Given the description of an element on the screen output the (x, y) to click on. 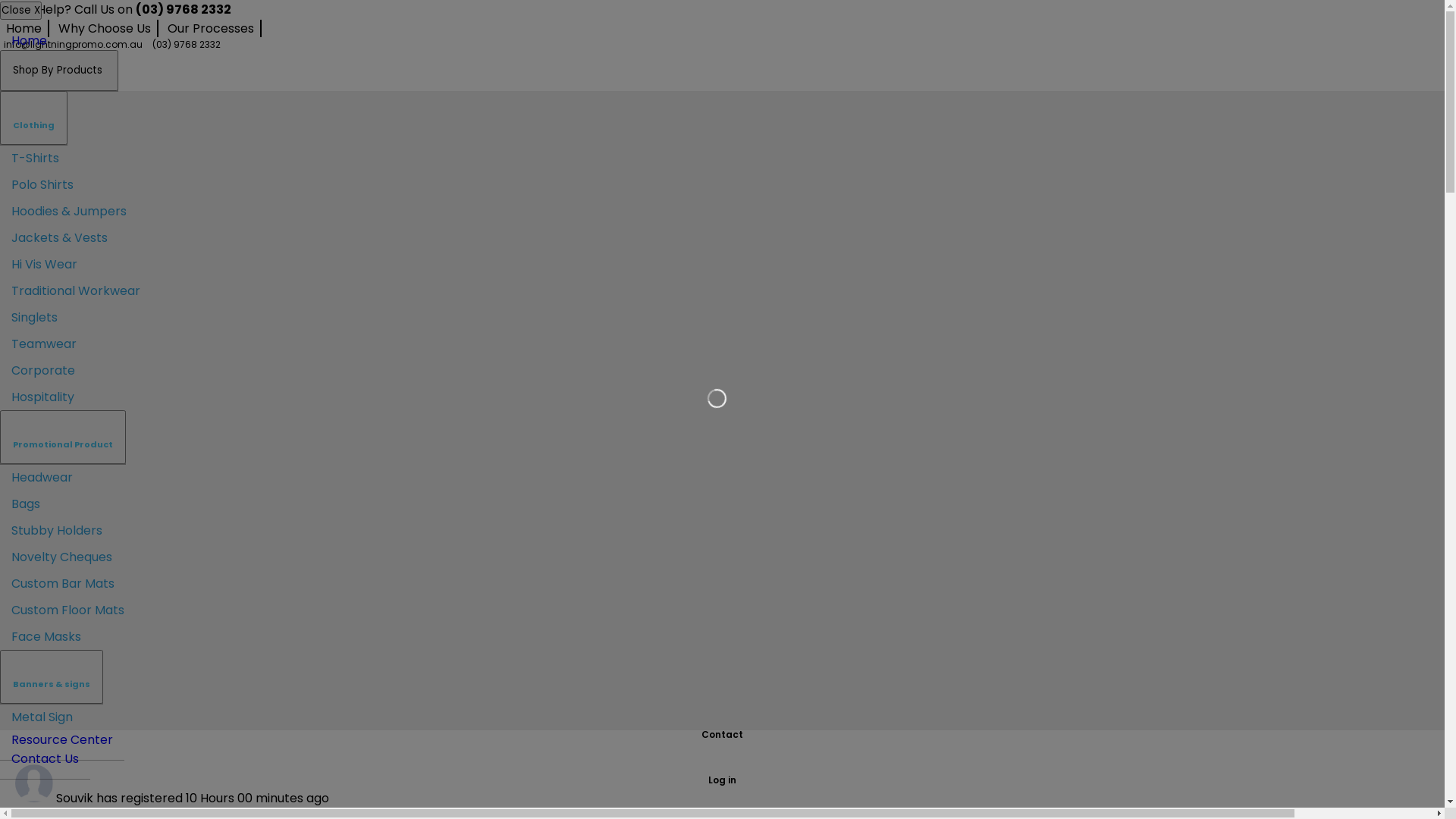
Clothing Element type: text (33, 110)
Traditional Workwear Element type: text (75, 290)
Promotional Product Element type: text (62, 429)
Hi Vis Wear Element type: text (44, 264)
Why Choose Us Element type: text (105, 28)
Custom Floor Mats Element type: text (67, 609)
Search Element type: text (1422, 631)
Face Masks Element type: text (46, 636)
Polo Shirts Element type: text (42, 184)
Contact Element type: text (722, 742)
(03) 9768 2332 Element type: text (182, 43)
Log in Element type: text (722, 769)
Singlets Element type: text (34, 317)
Hoodies & Jumpers Element type: text (69, 210)
(03) 9768 2332 Element type: text (183, 9)
Resource Center Element type: text (62, 739)
Metal Sign Element type: text (42, 716)
Promotional Product Element type: text (62, 437)
Banners & signs Element type: text (51, 668)
Contact Us Element type: text (45, 758)
Bags Element type: text (25, 503)
Teamwear Element type: text (43, 343)
Banners & signs Element type: text (51, 676)
Hospitality Element type: text (42, 396)
Home Element type: text (24, 28)
Stubby Holders Element type: text (56, 530)
Our Processes Element type: text (211, 28)
Headwear Element type: text (42, 477)
Clothing Element type: text (33, 117)
Close X Element type: text (20, 10)
Novelty Cheques Element type: text (61, 556)
Shop By Products  Element type: text (59, 70)
Home Element type: text (29, 40)
T-Shirts Element type: text (35, 157)
Custom Bar Mats Element type: text (62, 583)
Jackets & Vests Element type: text (59, 237)
info@lightningpromo.com.au Element type: text (71, 43)
Corporate Element type: text (43, 370)
